Given the description of an element on the screen output the (x, y) to click on. 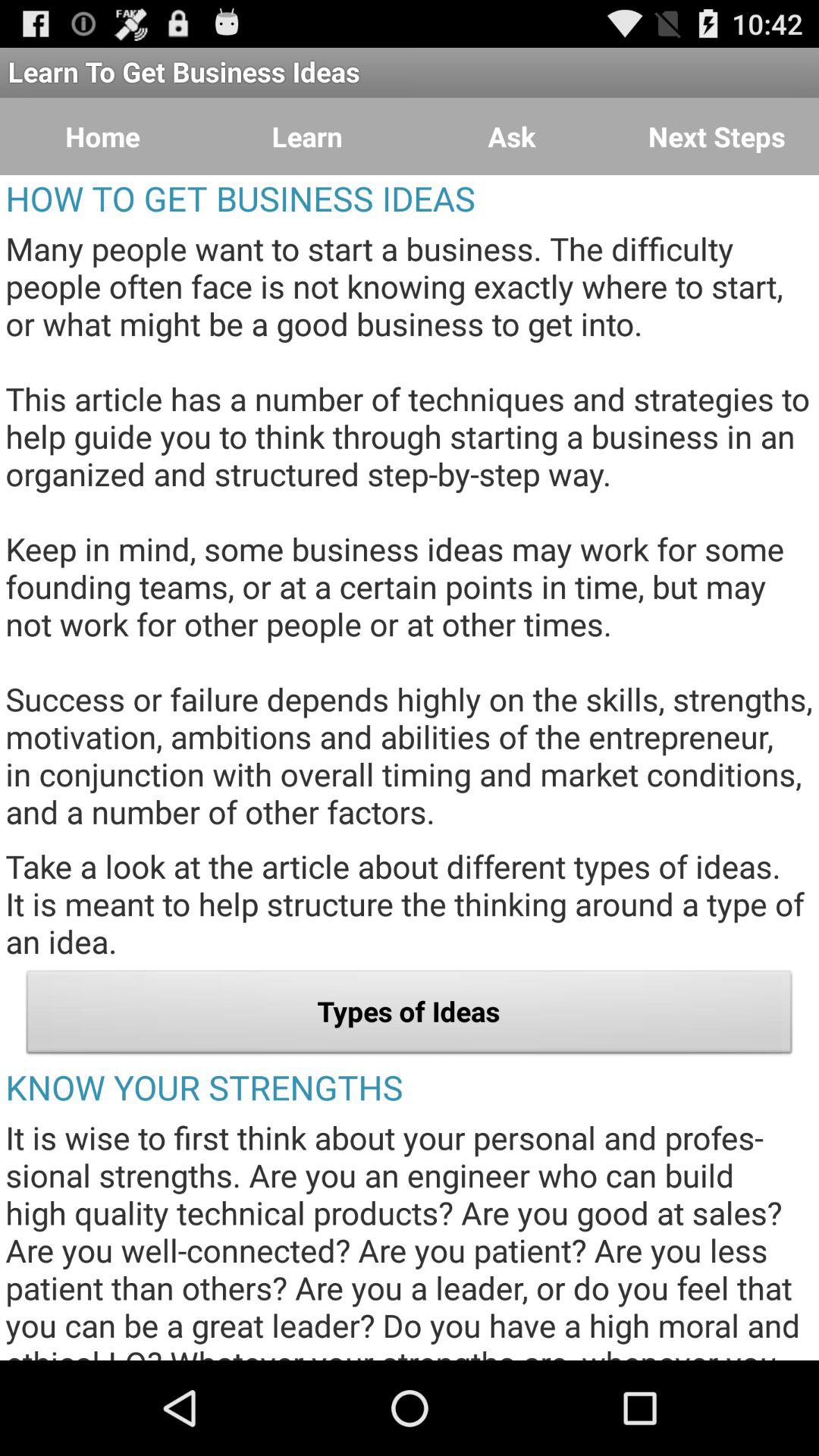
turn off the item to the left of the learn (102, 136)
